Given the description of an element on the screen output the (x, y) to click on. 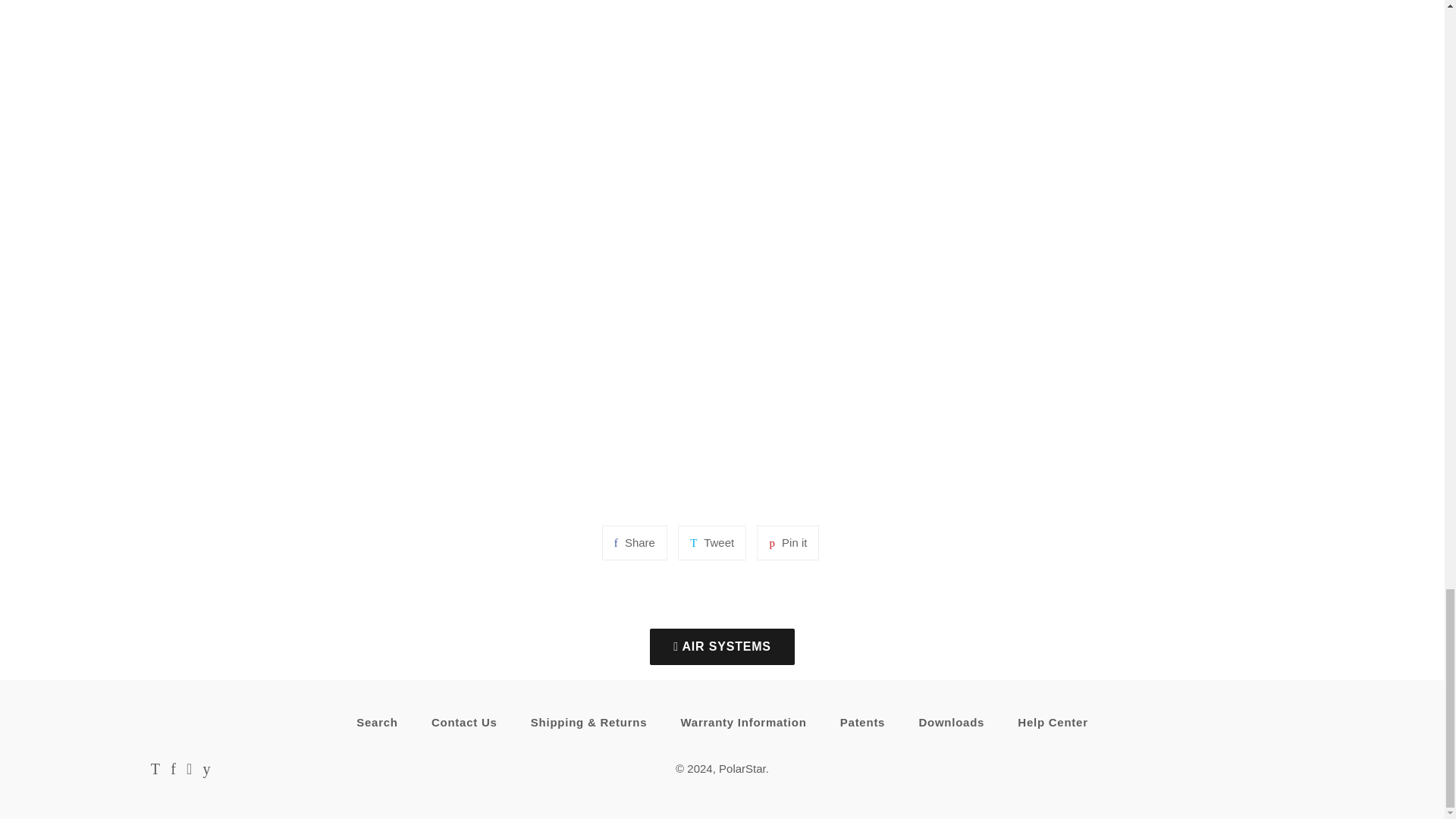
Share on Facebook (634, 542)
Pin on Pinterest (787, 542)
Tweet on Twitter (711, 542)
